Given the description of an element on the screen output the (x, y) to click on. 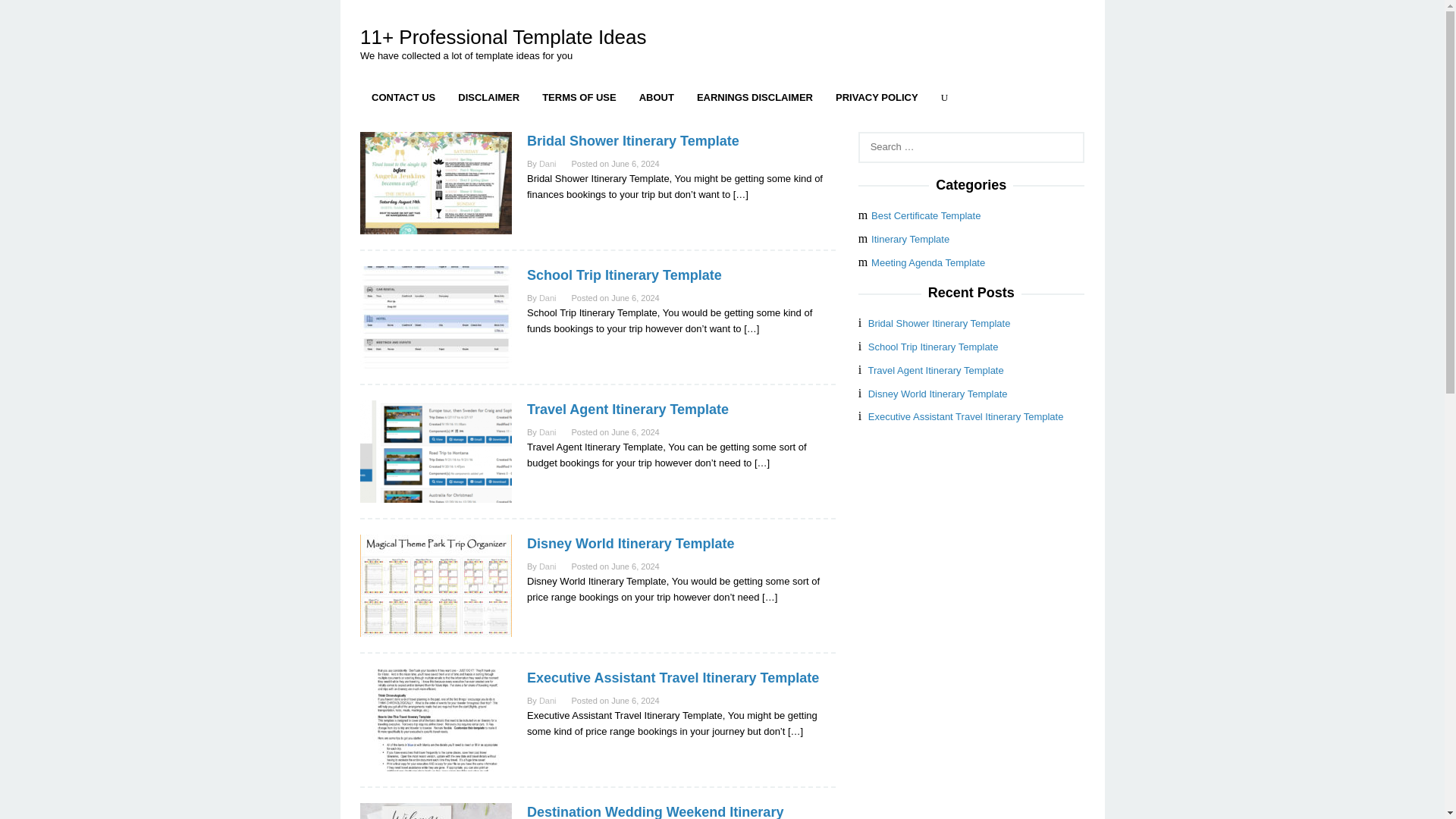
Permalink to: Travel Agent Itinerary Template (628, 409)
CONTACT US (402, 97)
Disney World Itinerary Template (630, 543)
Dani (547, 565)
Permalink to: Disney World Itinerary Template (435, 584)
Permalink to: Dani (547, 297)
Destination Wedding Weekend Itinerary Template (655, 811)
Permalink to: Executive Assistant Travel Itinerary Template (435, 718)
Dani (547, 700)
